Given the description of an element on the screen output the (x, y) to click on. 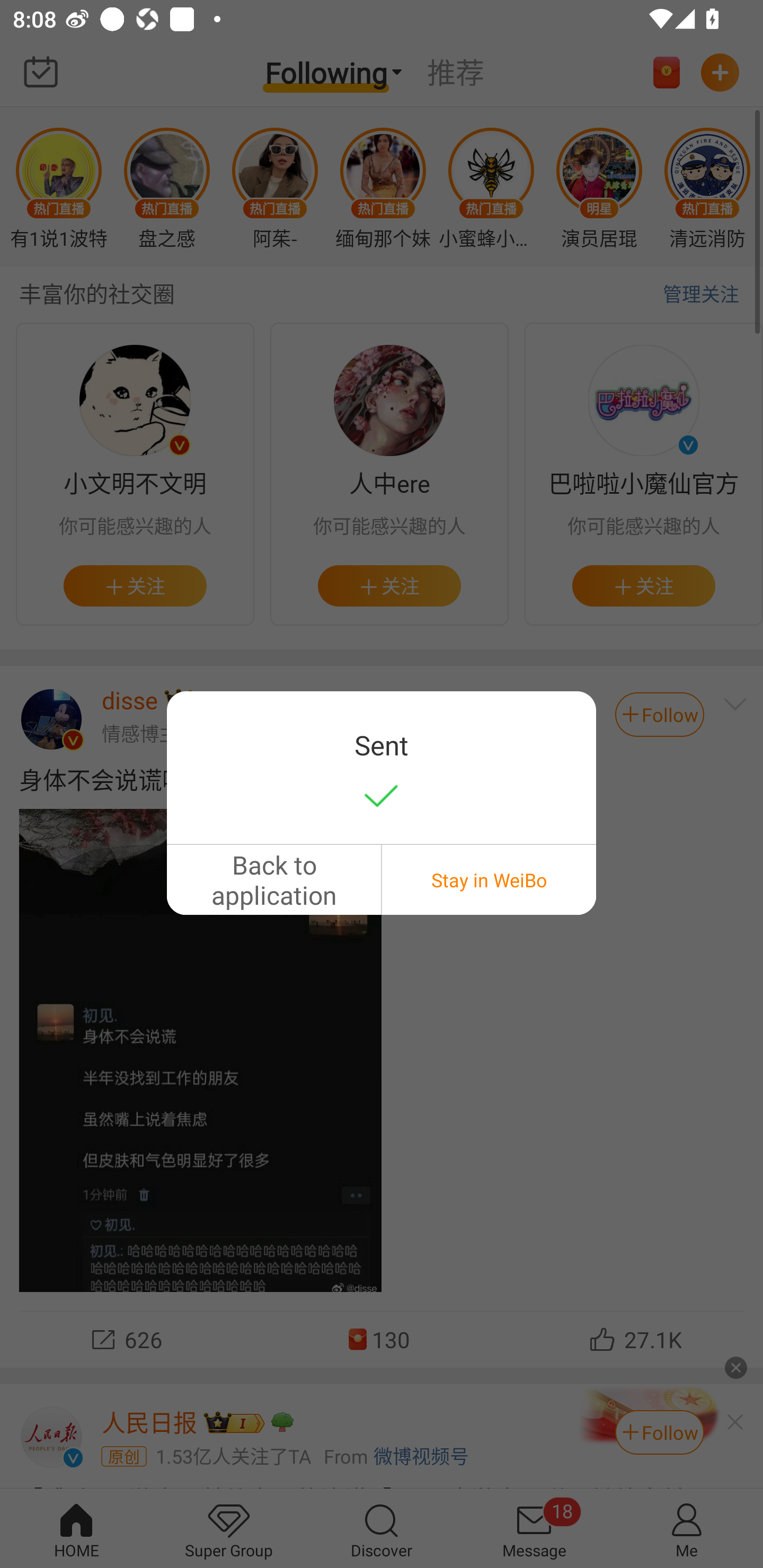
Back to application (273, 879)
Stay in WeiBo (488, 879)
